Given the description of an element on the screen output the (x, y) to click on. 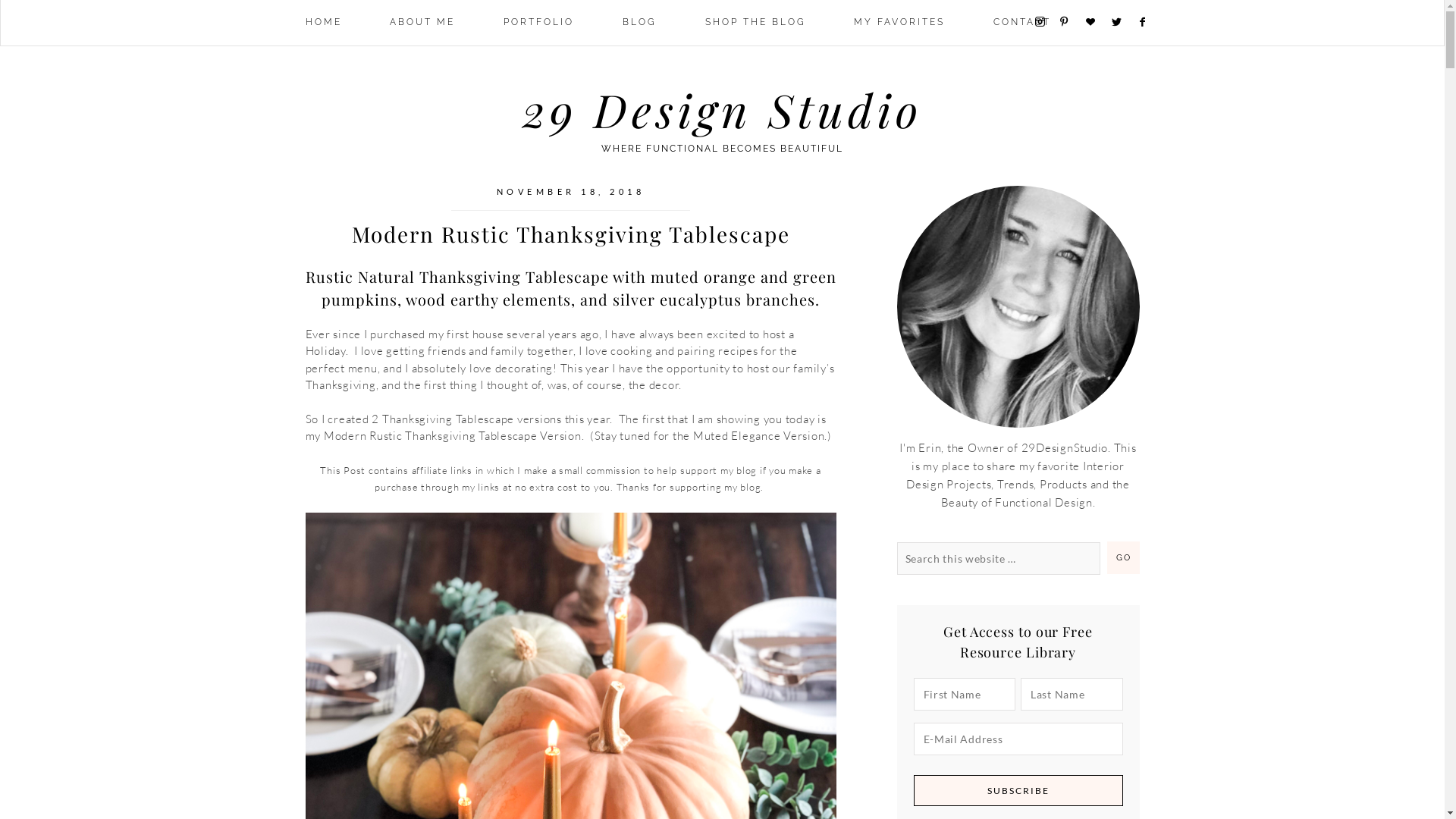
CONTACT Element type: text (1021, 22)
HOME Element type: text (323, 22)
Twitter Element type: hover (1122, 22)
Bloglovin Element type: hover (1096, 22)
Subscribe Element type: text (1017, 790)
Pinterest Element type: hover (1070, 21)
ABOUT ME Element type: text (422, 22)
29 Design Studio Element type: text (722, 108)
PORTFOLIO Element type: text (538, 22)
Facebook Element type: hover (1148, 22)
GO Element type: text (1123, 557)
Instagram Element type: hover (1044, 21)
MY FAVORITES Element type: text (899, 22)
SHOP THE BLOG Element type: text (755, 22)
BLOG Element type: text (639, 22)
